Given the description of an element on the screen output the (x, y) to click on. 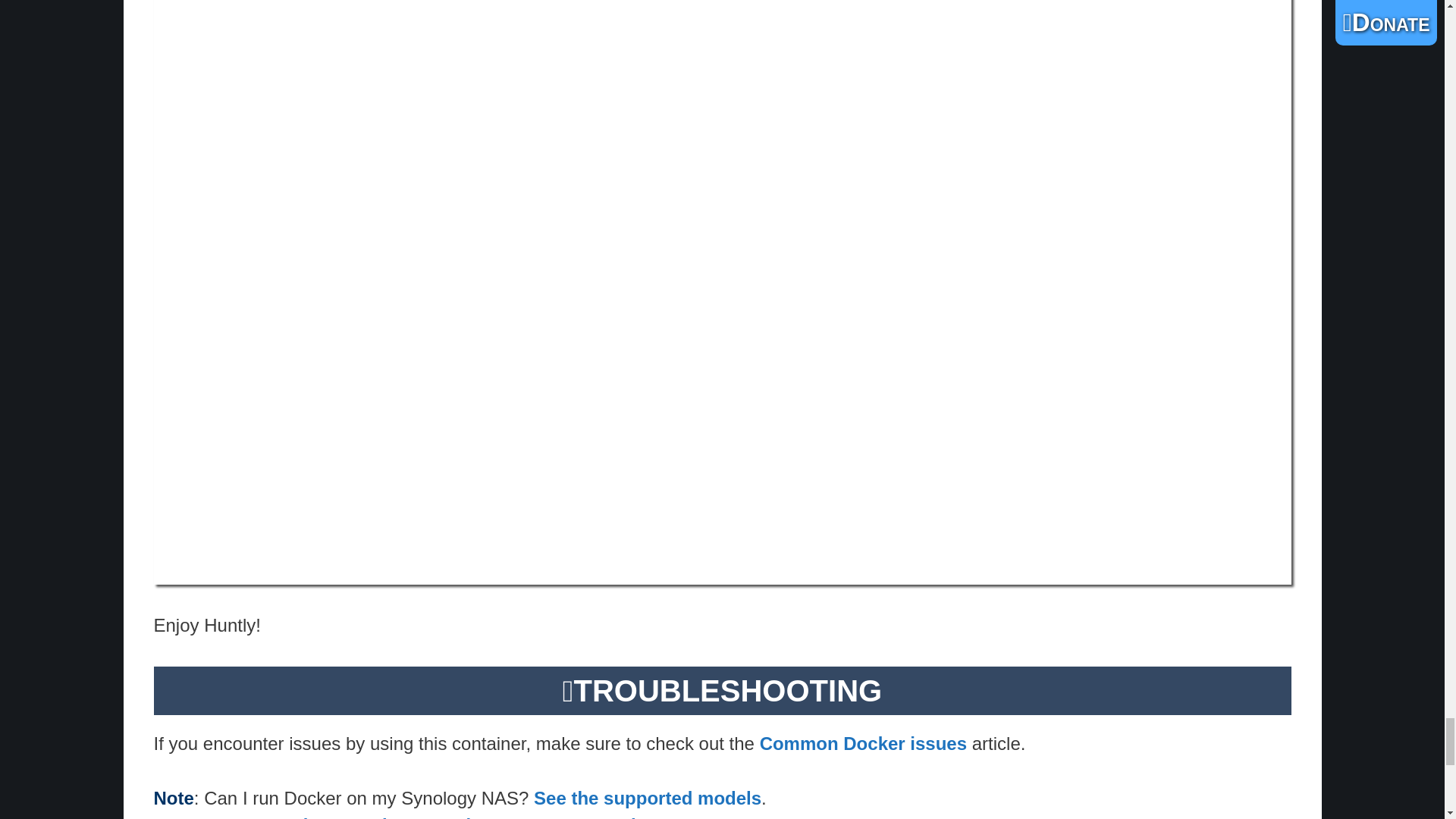
See the supported models (647, 797)
Common Docker issues (863, 743)
